Given the description of an element on the screen output the (x, y) to click on. 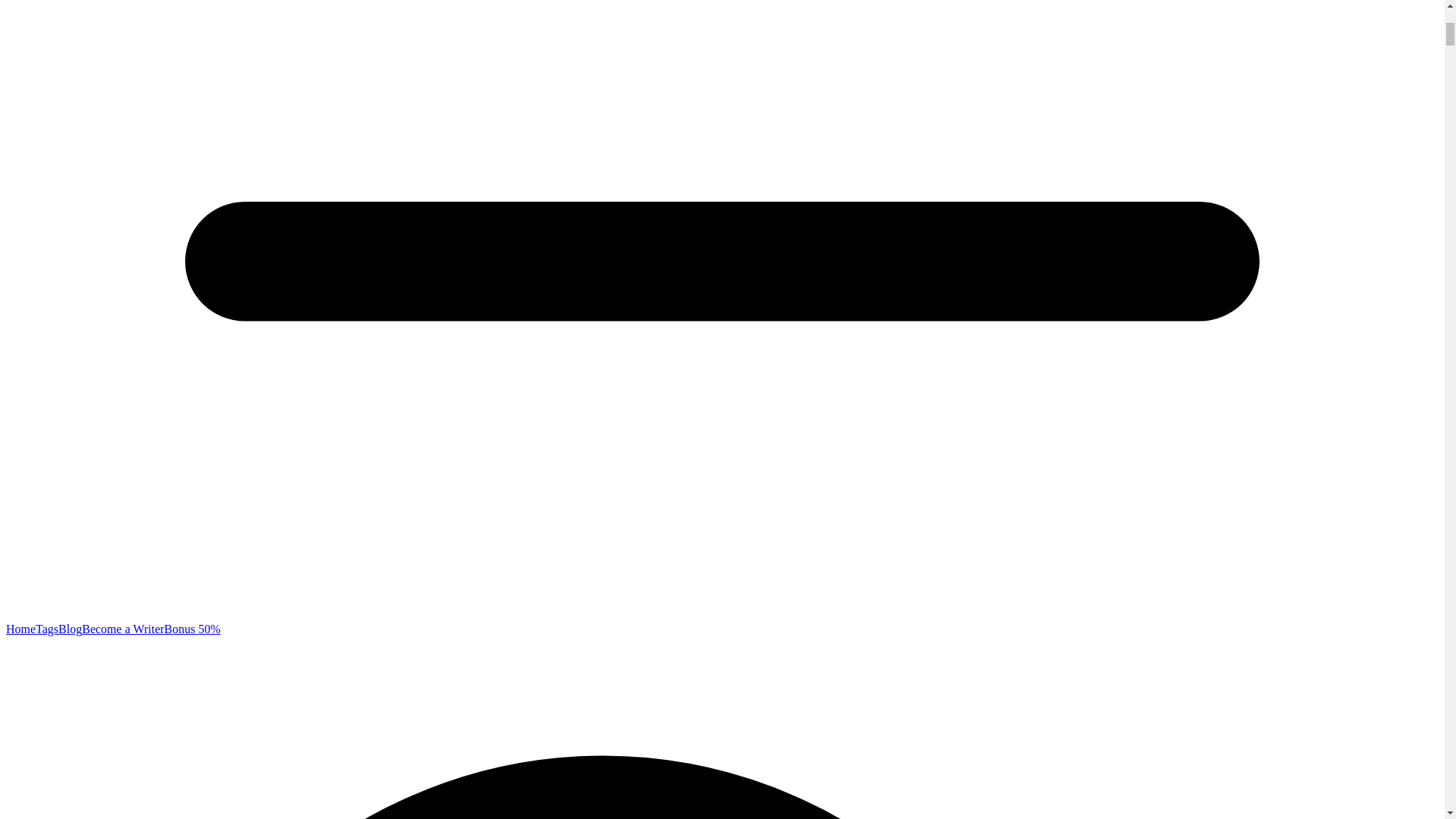
Tags (46, 628)
Blog (69, 628)
Home (19, 628)
